Given the description of an element on the screen output the (x, y) to click on. 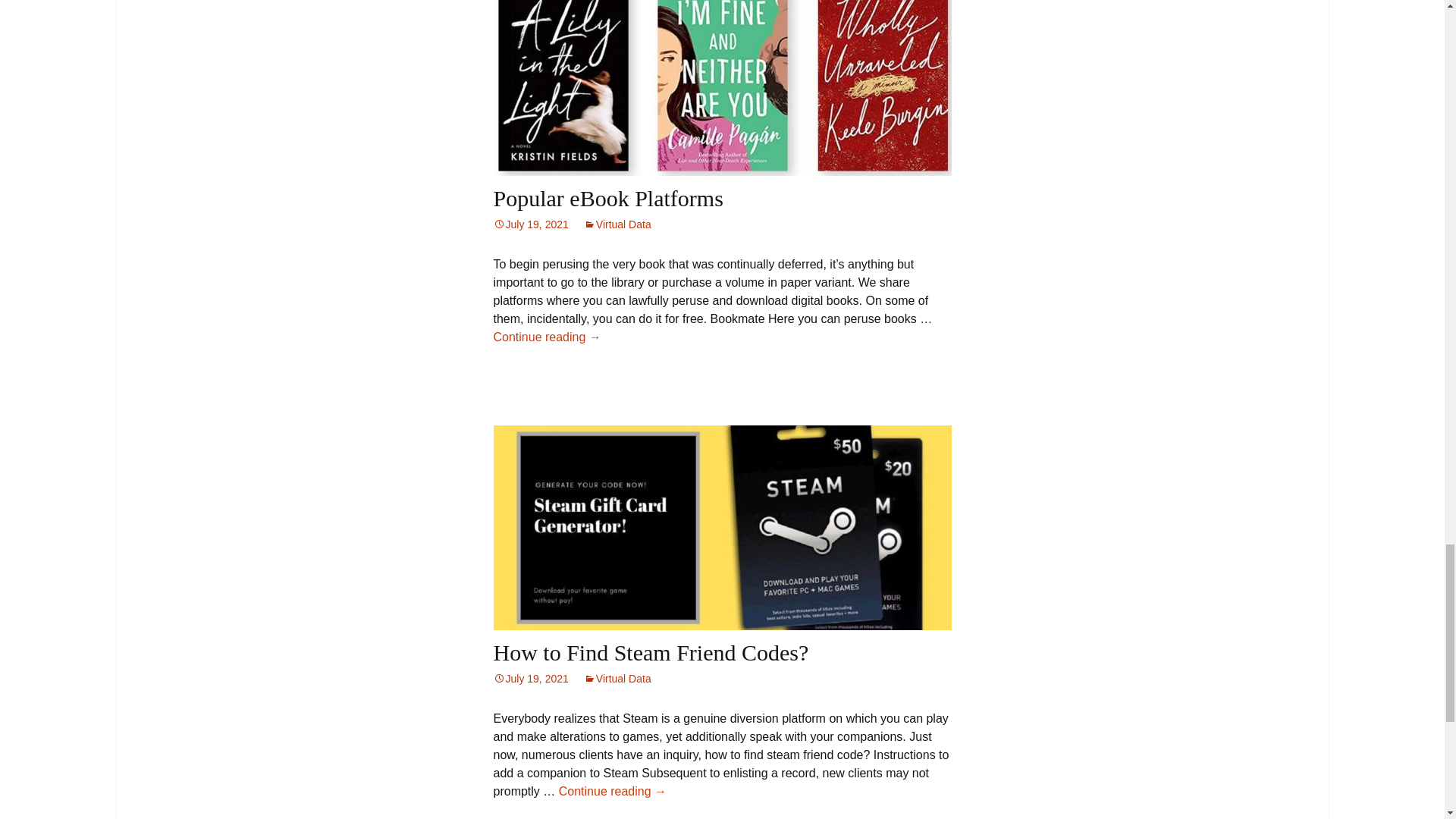
July 19, 2021 (530, 224)
Virtual Data (616, 224)
July 19, 2021 (530, 678)
Virtual Data (616, 678)
Permalink to How to Find Steam Friend Codes? (530, 678)
How to Find Steam Friend Codes? (650, 652)
Popular eBook Platforms (607, 197)
Permalink to Popular eBook Platforms (530, 224)
